Given the description of an element on the screen output the (x, y) to click on. 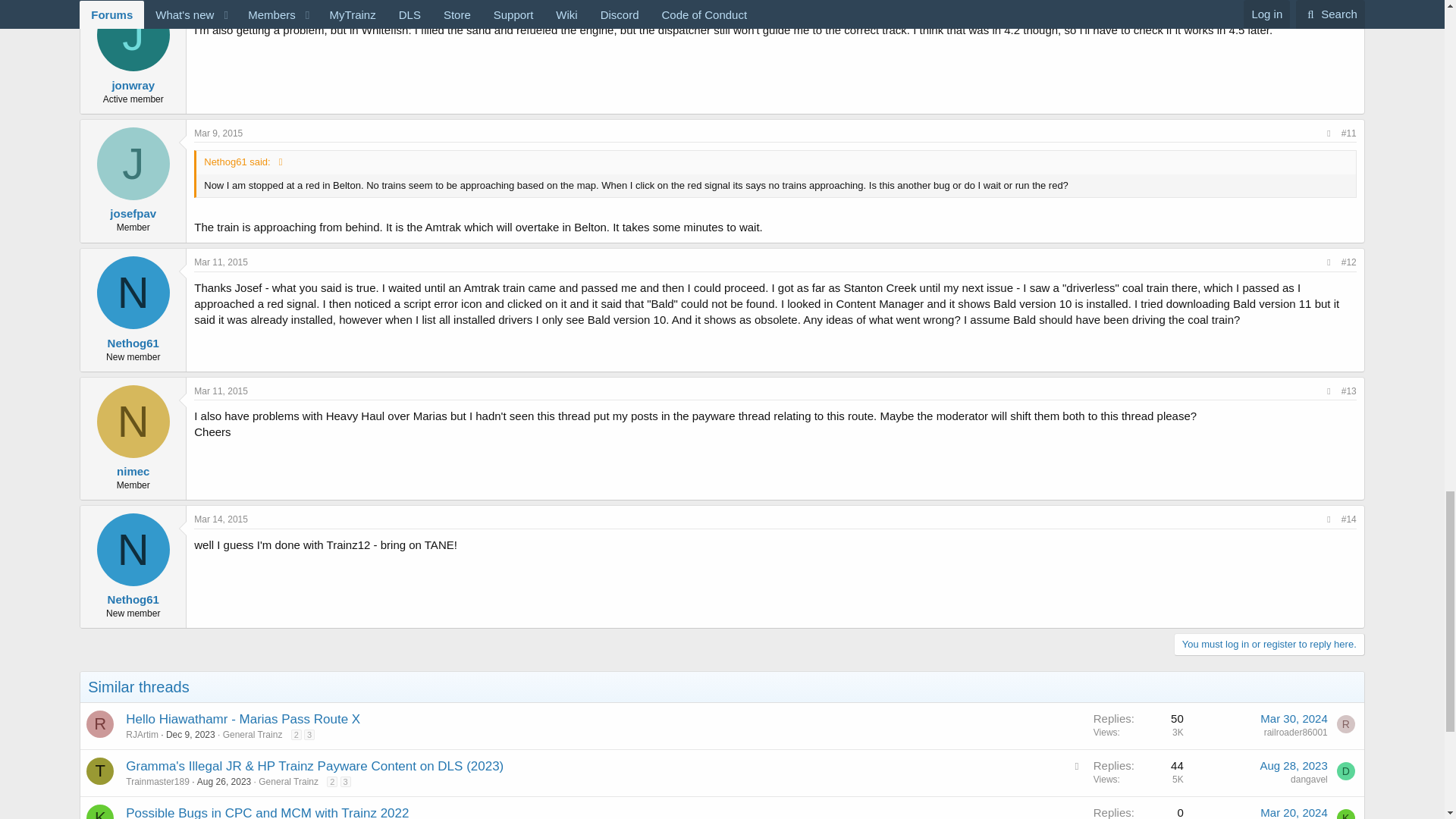
Mar 9, 2015 at 12:50 PM (218, 132)
Mar 11, 2015 at 2:53 AM (220, 262)
Mar 11, 2015 at 4:49 AM (220, 390)
Mar 9, 2015 at 4:49 AM (218, 4)
Mar 14, 2015 at 10:08 PM (220, 519)
